Given the description of an element on the screen output the (x, y) to click on. 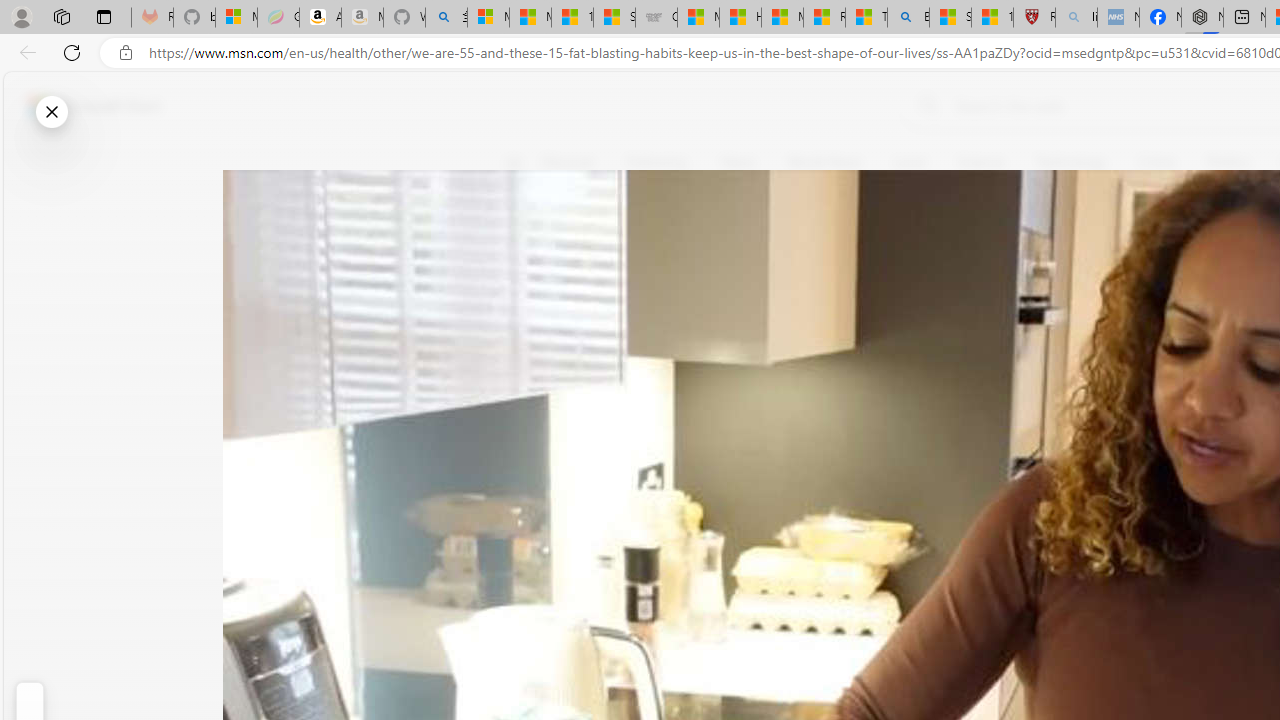
Microsoft-Report a Concern to Bing (236, 17)
12 Popular Science Lies that Must be Corrected (991, 17)
Microsoft account | Privacy (488, 17)
Crime (1156, 162)
Start the conversation (525, 356)
Discover (575, 162)
Technology (1071, 162)
How I Got Rid of Microsoft Edge's Unnecessary Features (740, 17)
Share this story (525, 412)
Nordace - Nordace Siena Is Not An Ordinary Backpack (1201, 17)
